Given the description of an element on the screen output the (x, y) to click on. 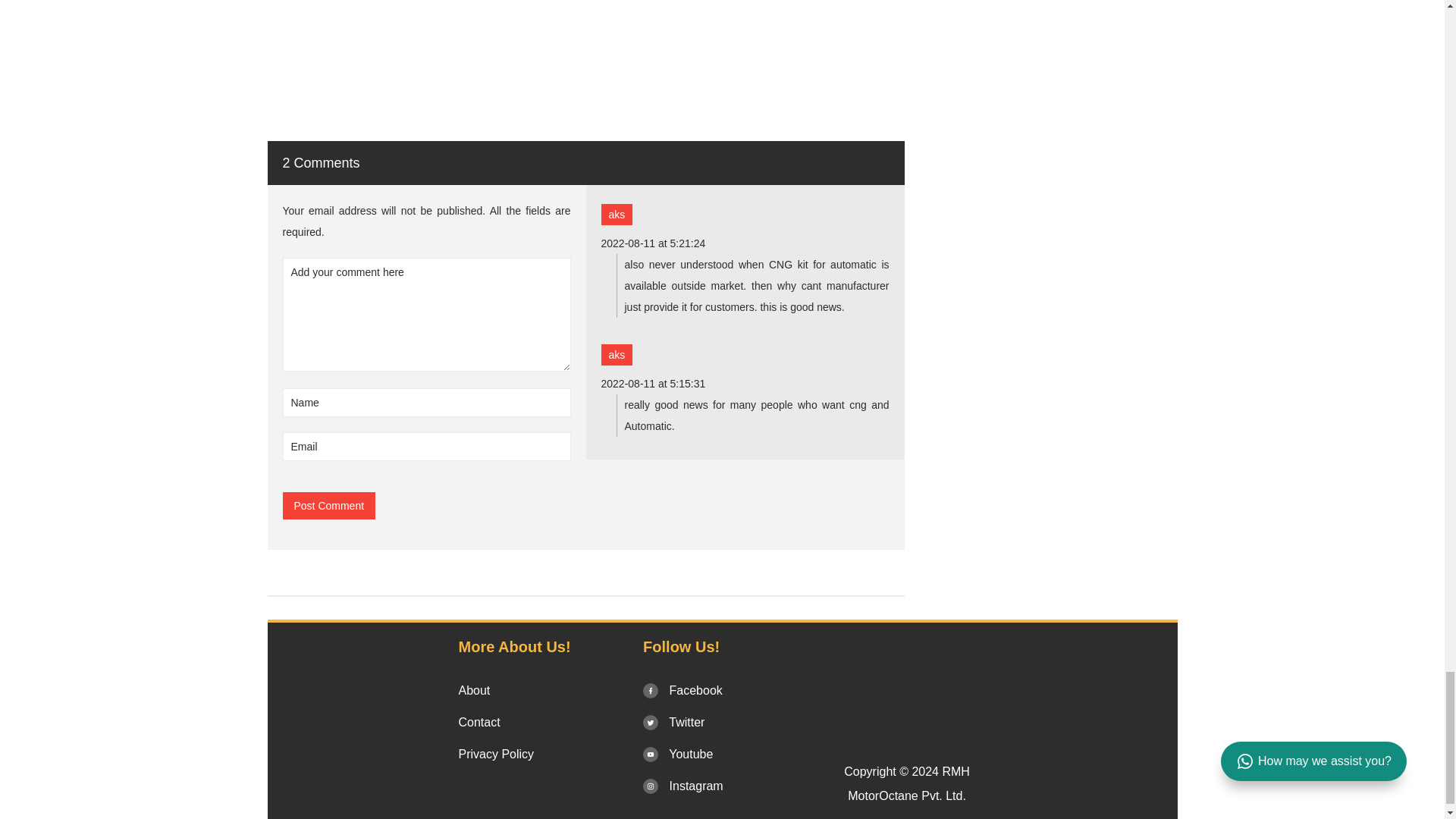
Post Comment (328, 505)
Post Comment (328, 505)
Facebook (682, 689)
Privacy Policy (496, 753)
About (473, 689)
Instagram (683, 785)
Youtube (678, 753)
Twitter (673, 721)
Contact (478, 721)
